Given the description of an element on the screen output the (x, y) to click on. 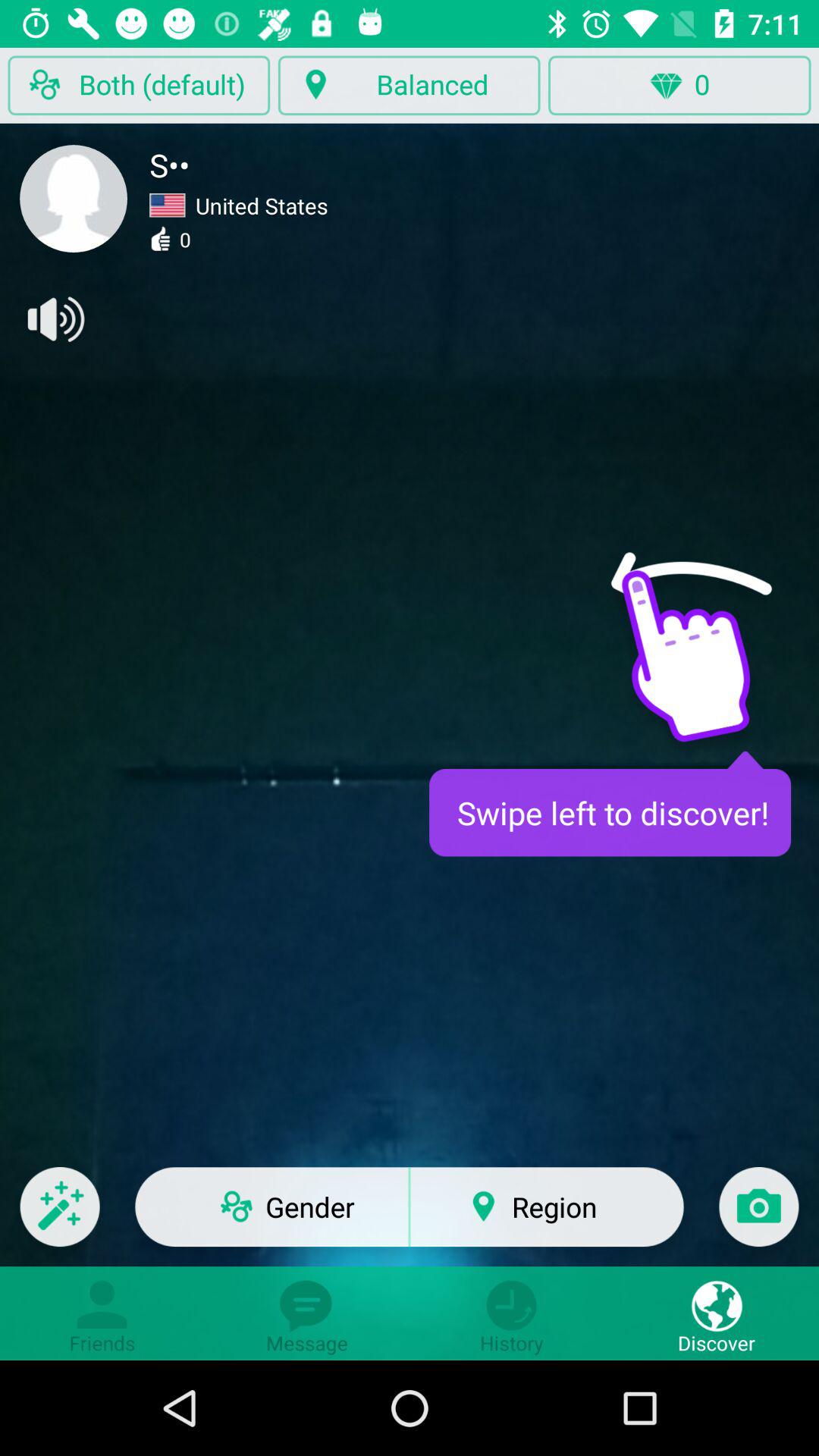
sound on sound off (54, 319)
